Given the description of an element on the screen output the (x, y) to click on. 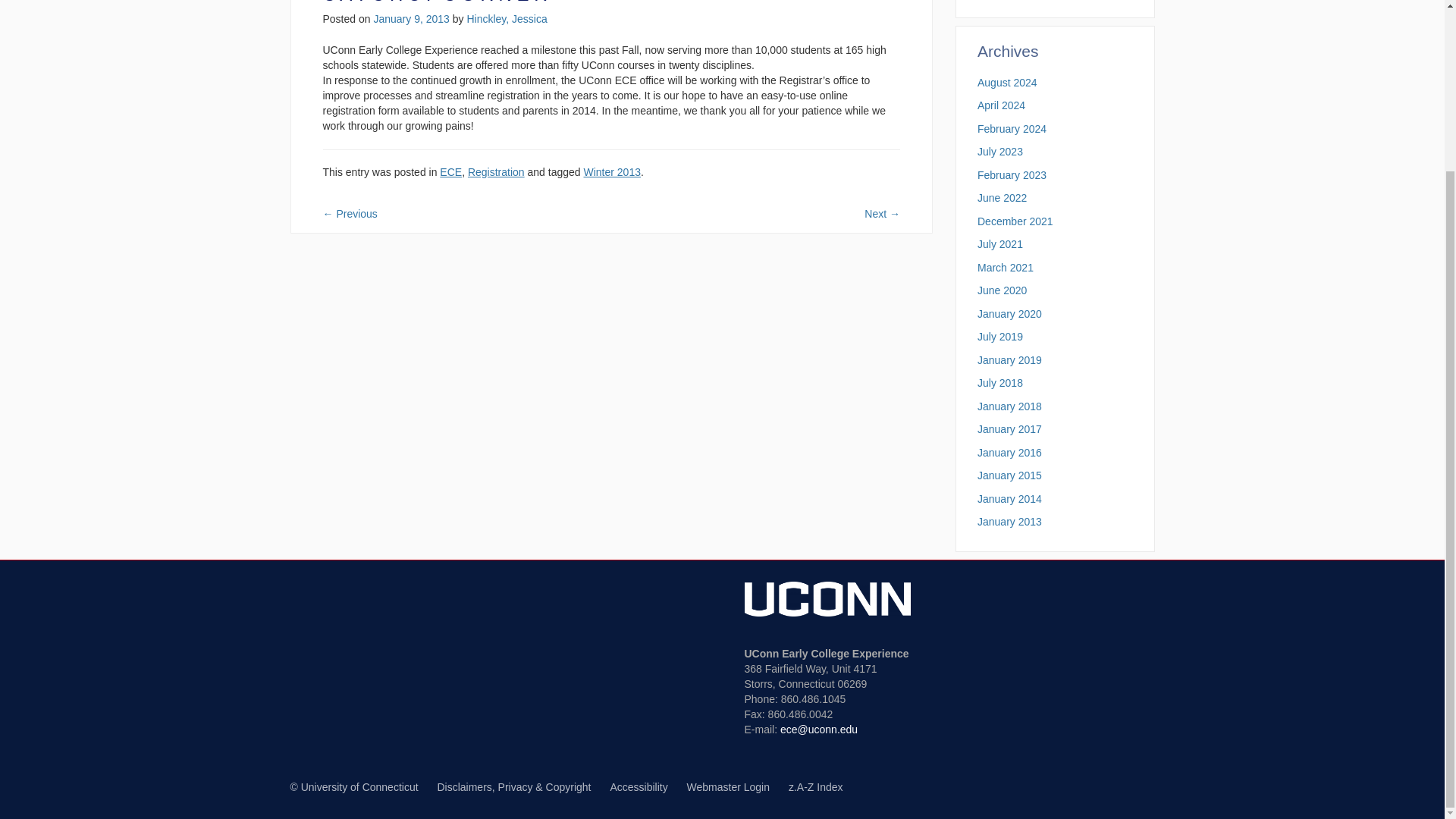
August 2024 (1006, 82)
June 2022 (1001, 197)
April 2024 (1000, 105)
Winter 2013 (611, 172)
ECE (450, 172)
Registration (495, 172)
Hinckley, Jessica (506, 19)
January 9, 2013 (410, 19)
February 2023 (1011, 174)
February 2024 (1011, 128)
